Given the description of an element on the screen output the (x, y) to click on. 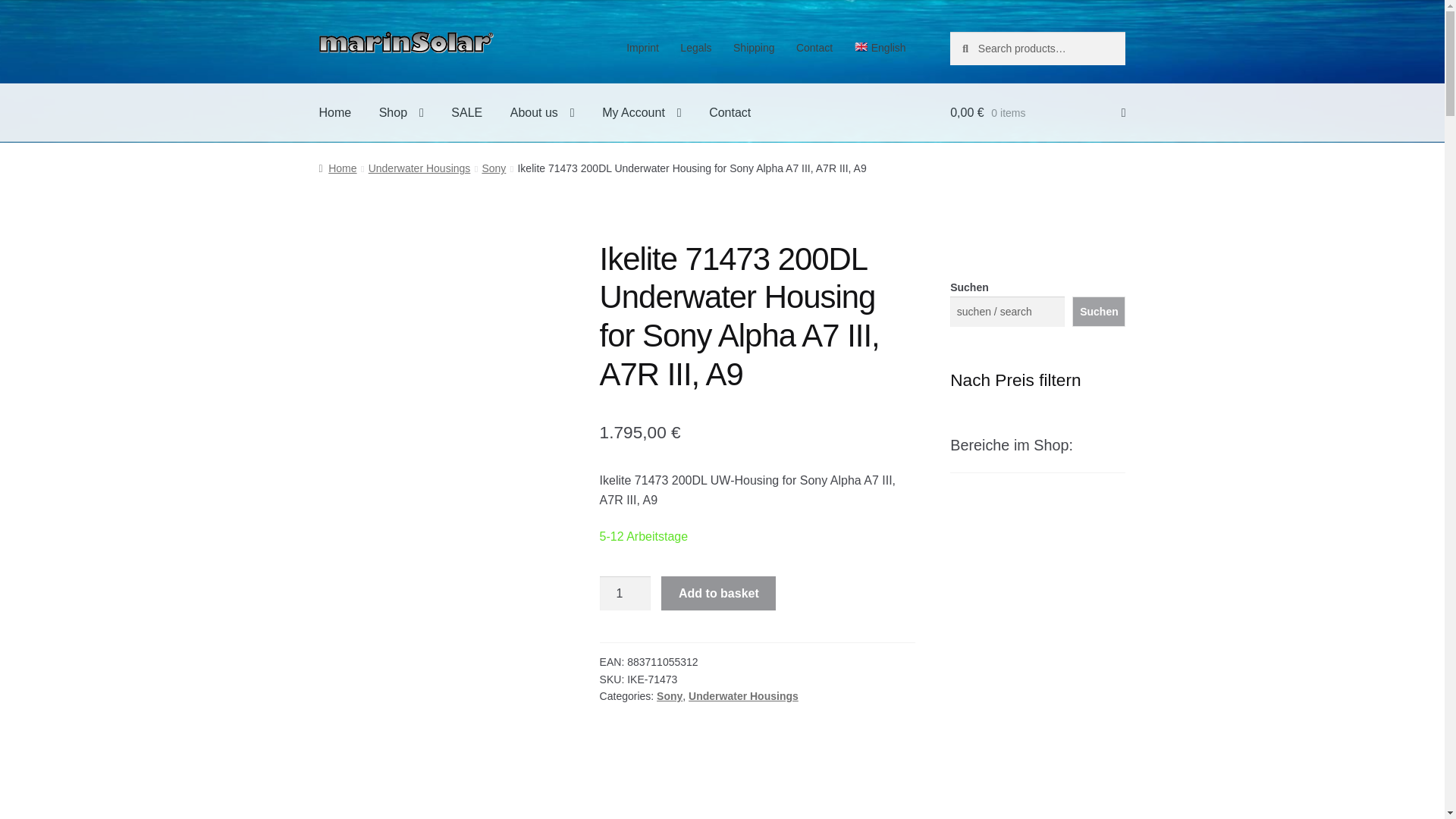
View your shopping basket (1037, 112)
Imprint (642, 47)
English (879, 47)
1 (624, 593)
Contact (815, 47)
Shipping (753, 47)
Home (335, 112)
Shop (400, 112)
Legals (695, 47)
